Given the description of an element on the screen output the (x, y) to click on. 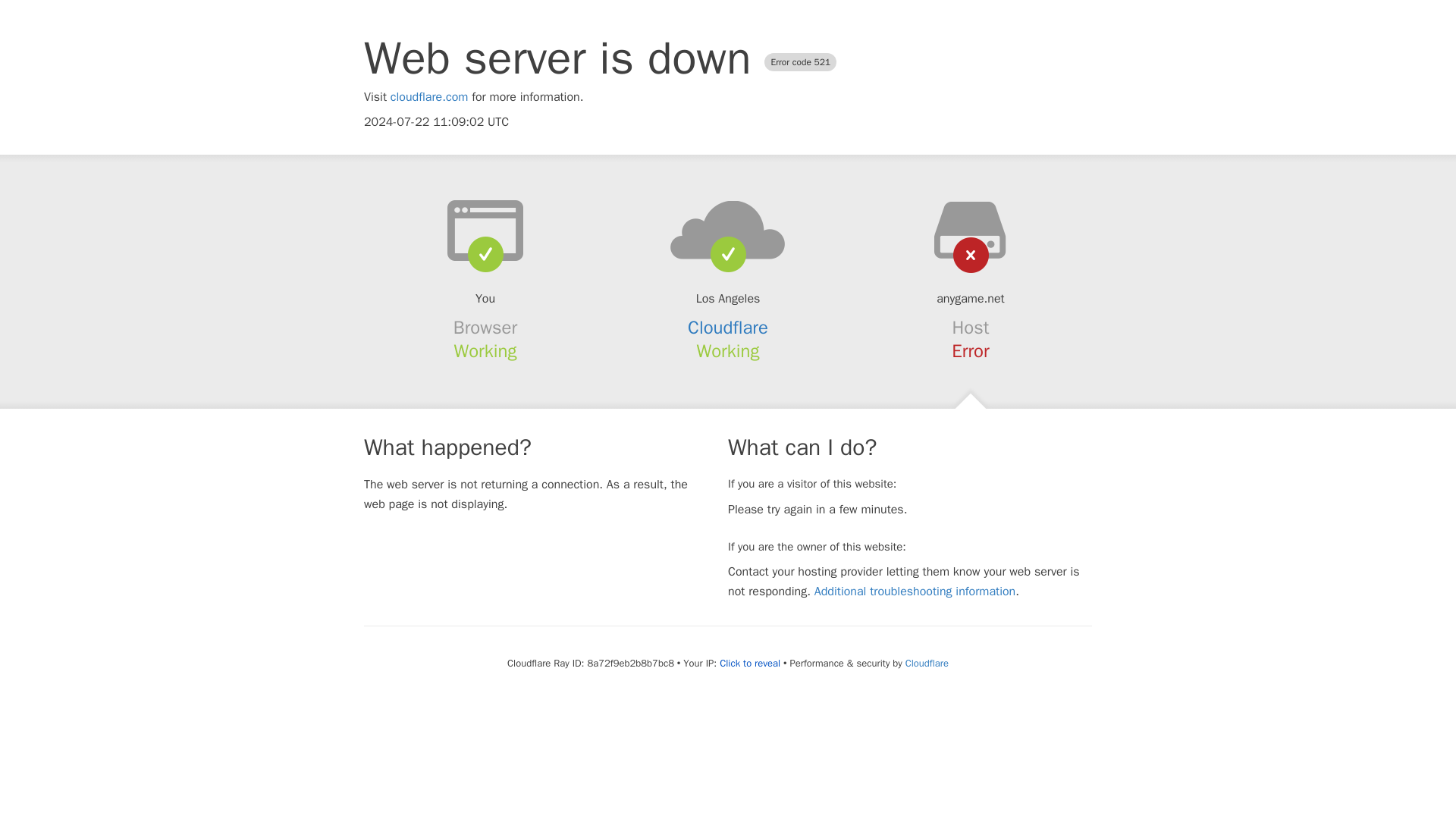
Click to reveal (749, 663)
Additional troubleshooting information (913, 590)
Cloudflare (927, 662)
Cloudflare (727, 327)
cloudflare.com (429, 96)
